Given the description of an element on the screen output the (x, y) to click on. 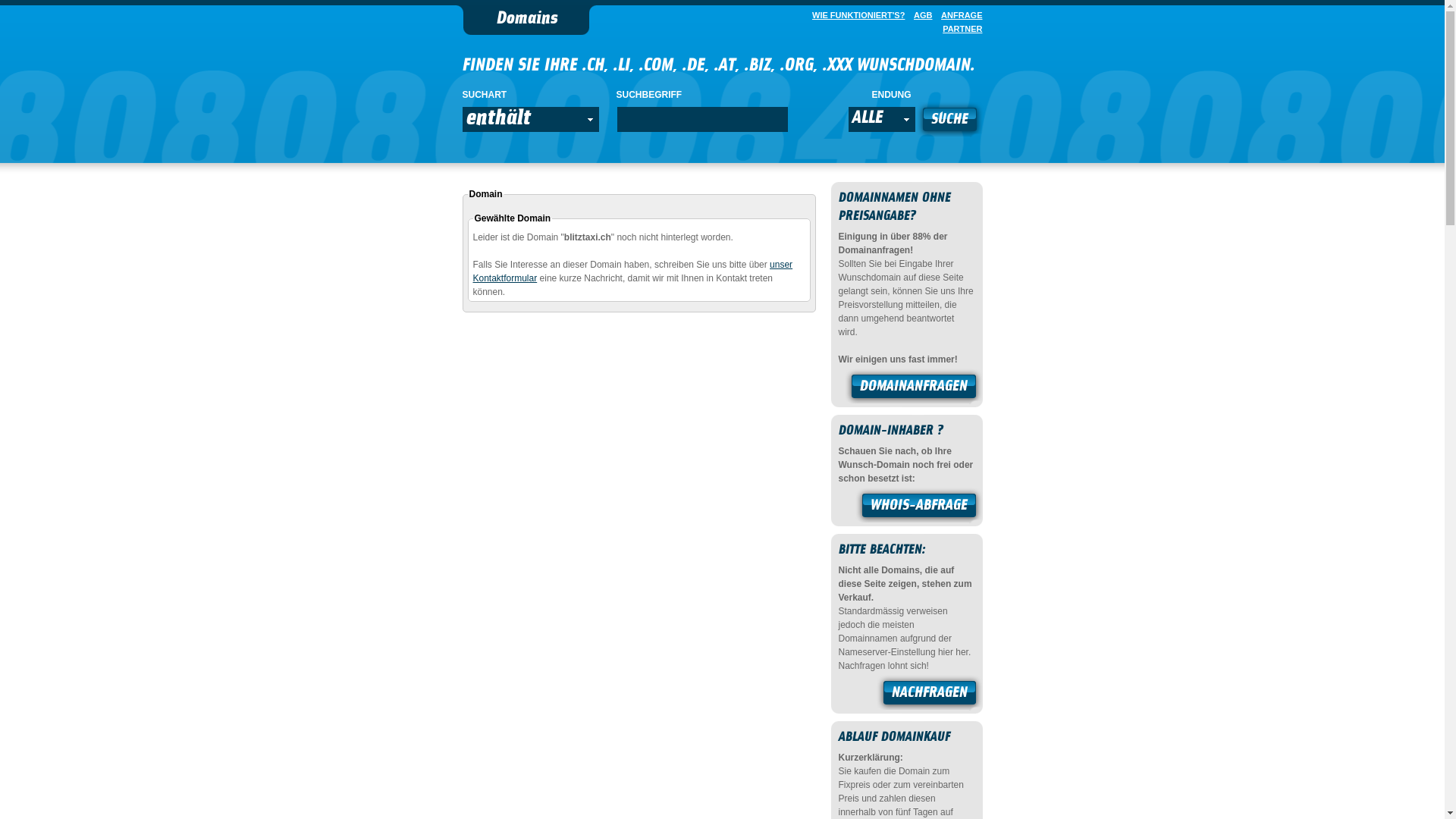
NACHFRAGEN Element type: text (929, 694)
SUCHE Element type: text (949, 121)
AGB Element type: text (919, 14)
WHOIS-ABFRAGE Element type: text (918, 507)
WIE FUNKTIONIERT'S? Element type: text (855, 14)
Domains Element type: text (526, 19)
DOMAINANFRAGEN Element type: text (913, 387)
ANFRAGE Element type: text (958, 14)
unser Kontaktformular Element type: text (633, 271)
PARTNER Element type: text (959, 28)
